Given the description of an element on the screen output the (x, y) to click on. 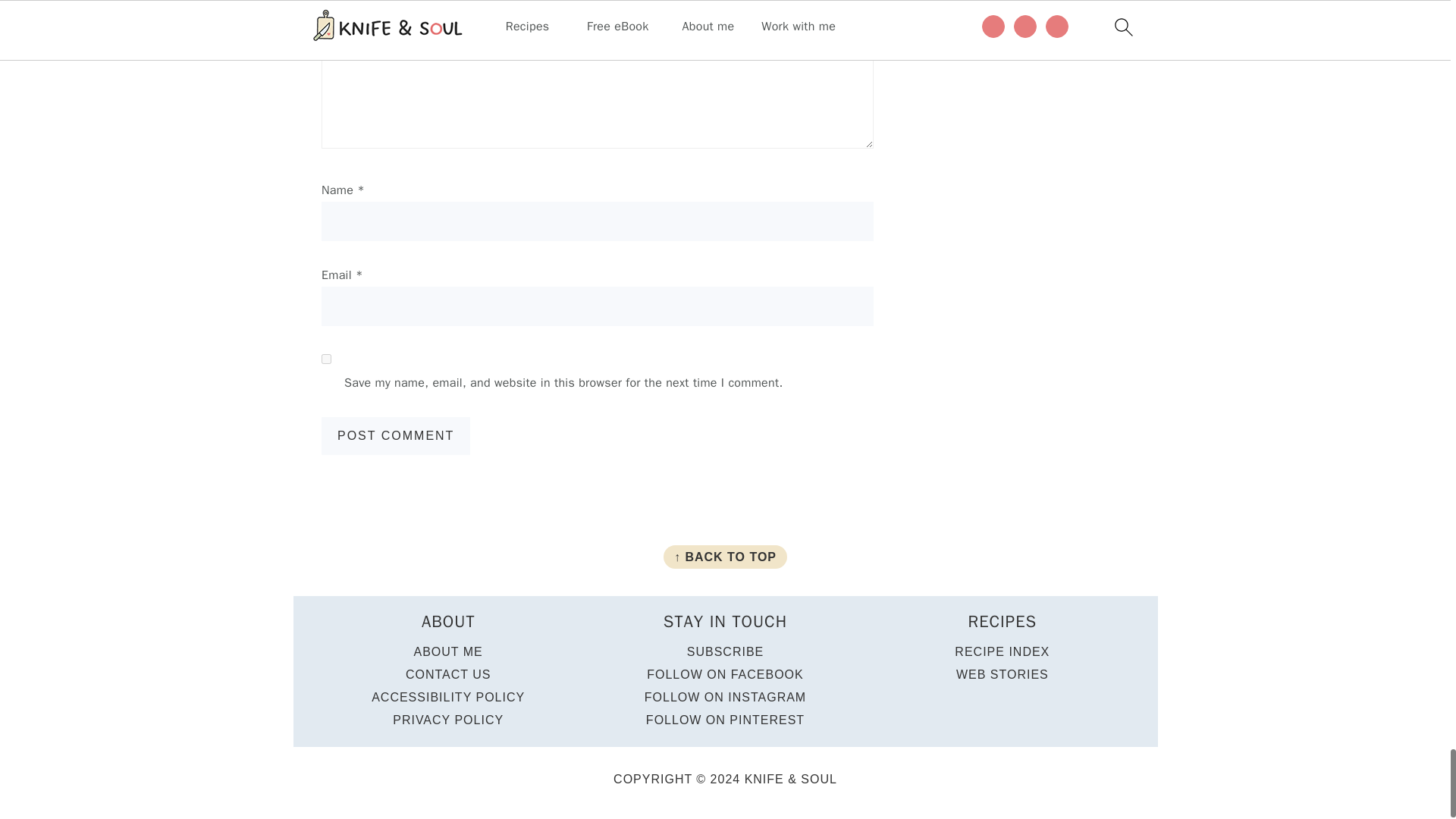
yes (326, 358)
Post Comment (395, 435)
